Given the description of an element on the screen output the (x, y) to click on. 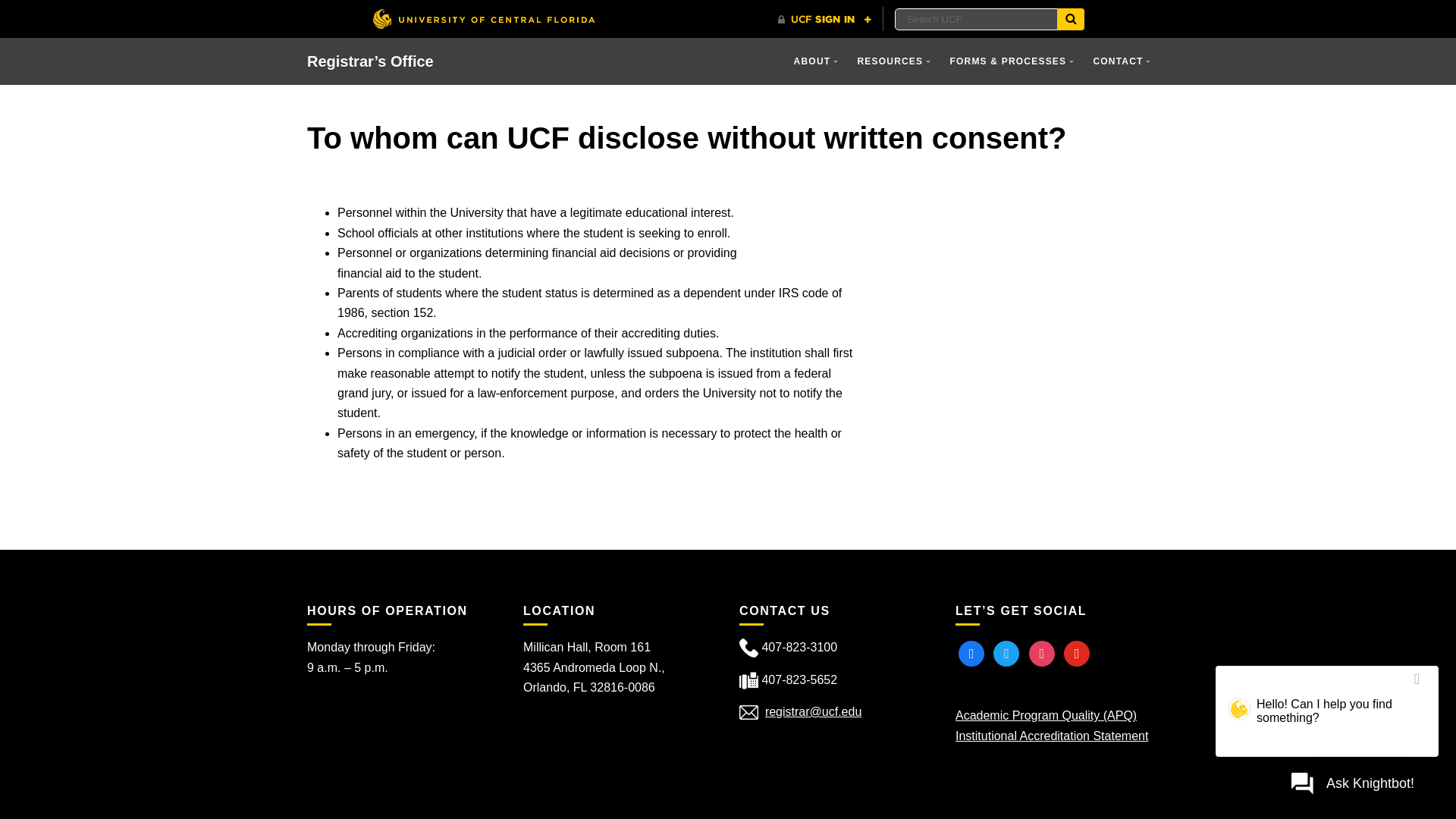
Search (1070, 19)
ABOUT (815, 61)
RESOURCES (893, 61)
